Given the description of an element on the screen output the (x, y) to click on. 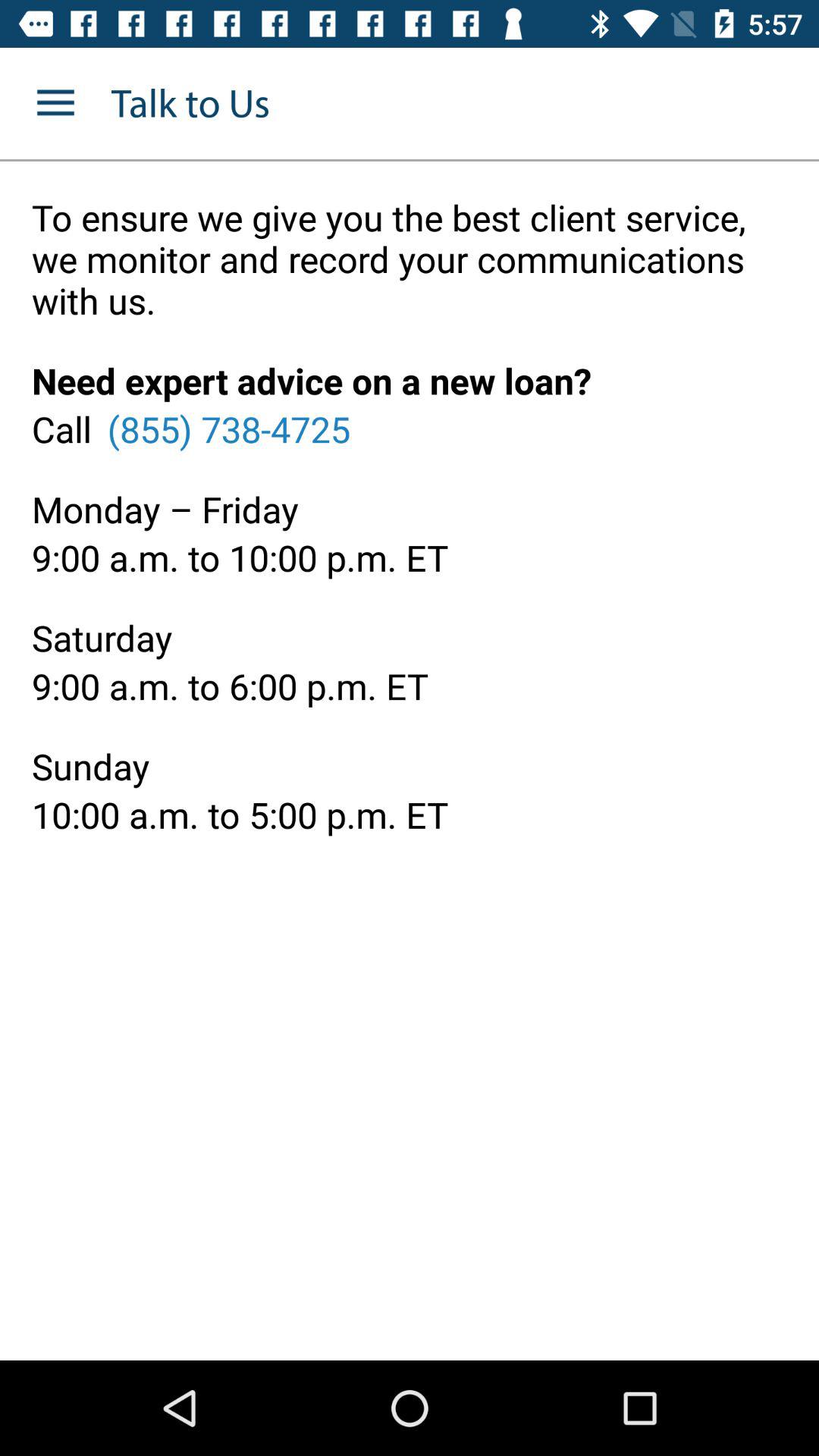
press item to the right of the call item (228, 428)
